Given the description of an element on the screen output the (x, y) to click on. 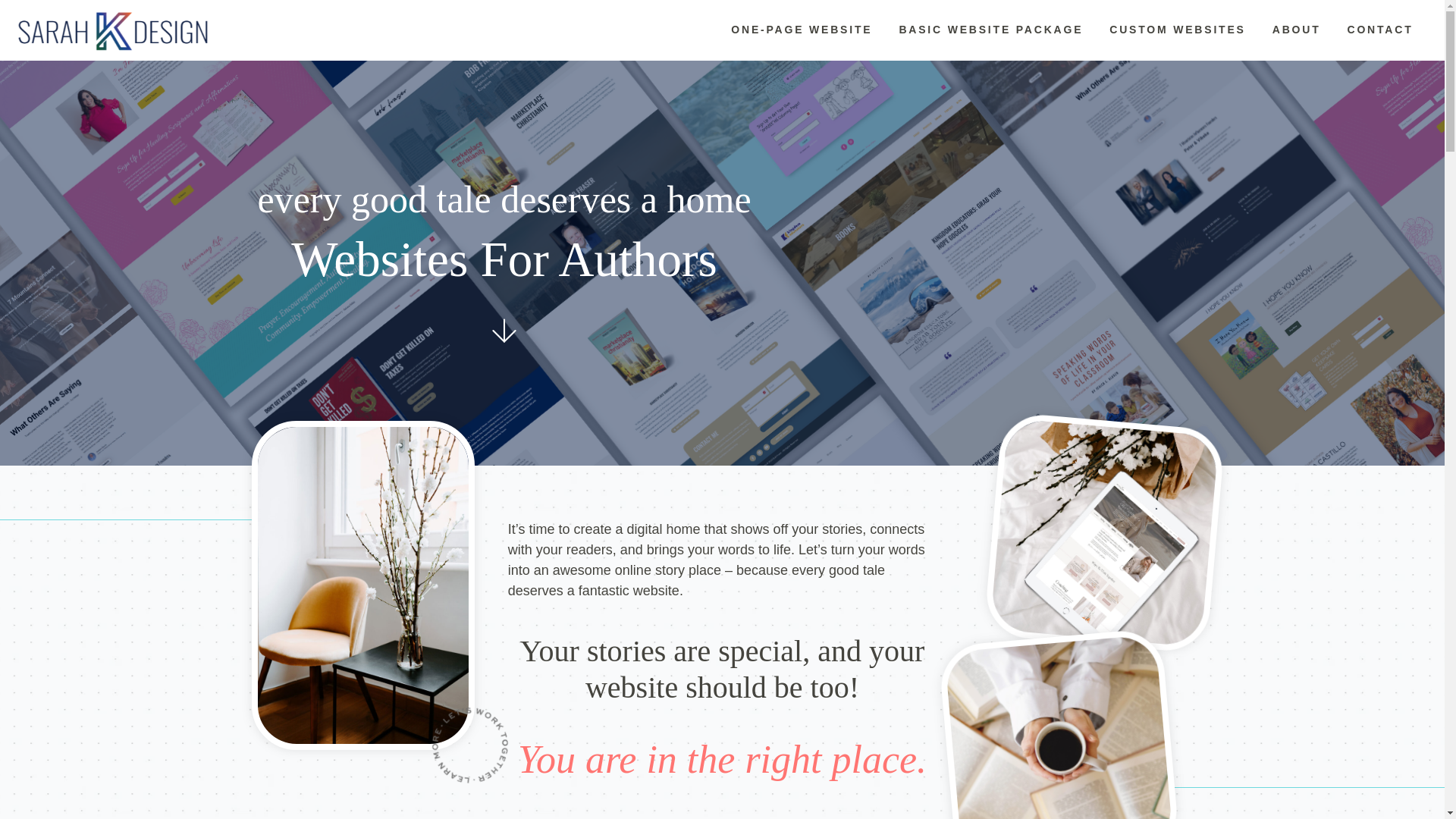
BASIC WEBSITE PACKAGE (990, 30)
ONE-PAGE WEBSITE (801, 30)
CONTACT (1379, 30)
CUSTOM WEBSITES (1177, 30)
ABOUT (1296, 30)
